Given the description of an element on the screen output the (x, y) to click on. 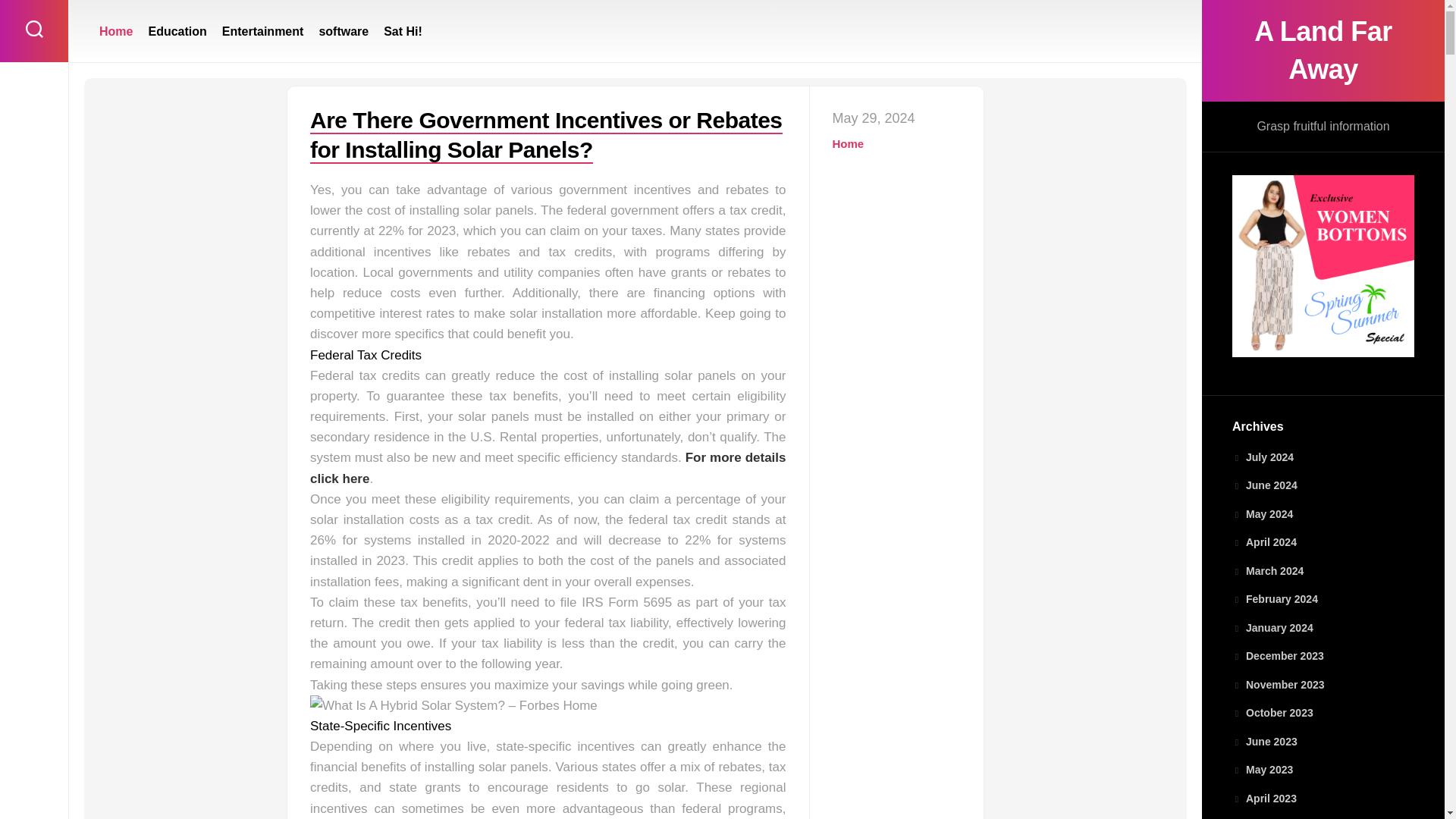
May 2023 (1261, 769)
June 2024 (1264, 485)
December 2023 (1277, 655)
July 2024 (1262, 457)
October 2023 (1272, 712)
March 2024 (1267, 571)
January 2024 (1272, 627)
May 2024 (1261, 513)
April 2024 (1264, 541)
A Land Far Away (1322, 50)
February 2024 (1274, 598)
June 2023 (1264, 741)
November 2023 (1277, 684)
April 2023 (1264, 798)
